Given the description of an element on the screen output the (x, y) to click on. 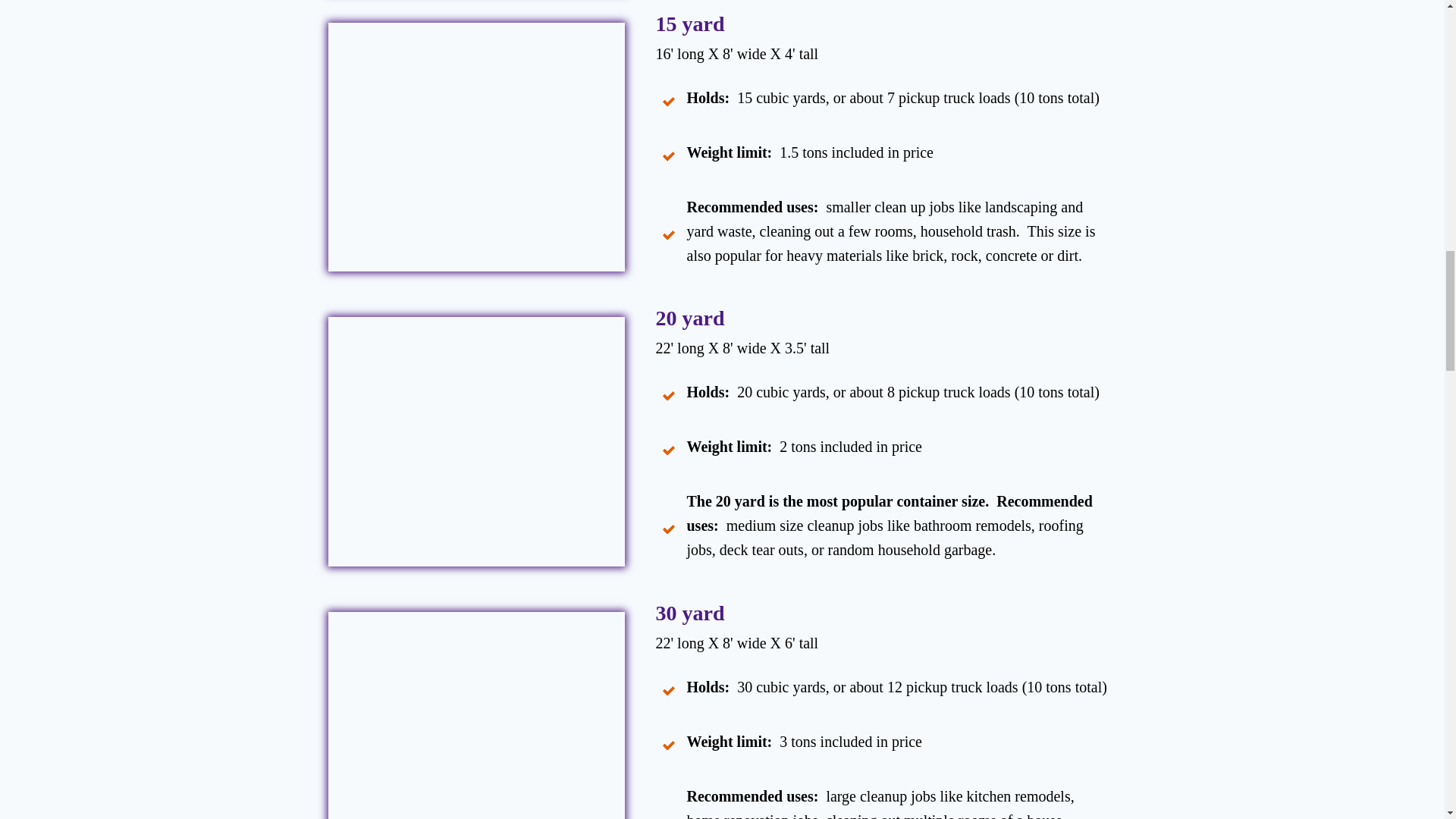
30 yard (689, 613)
15 yard  (692, 24)
20 yard (689, 318)
